Given the description of an element on the screen output the (x, y) to click on. 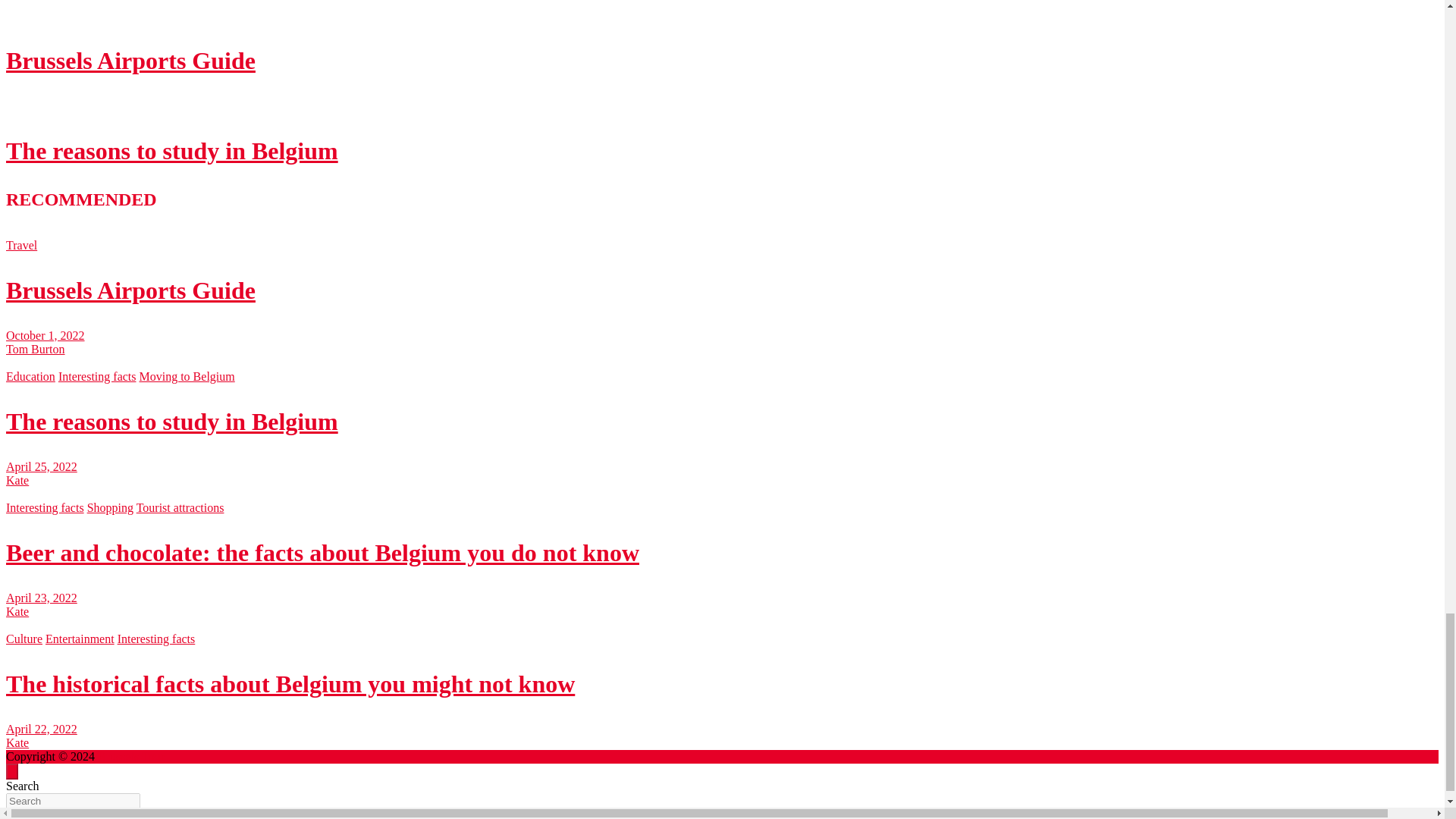
The reasons to study in Belgium (171, 150)
Brussels Airports Guide (130, 289)
Tom Burton (35, 349)
Brussels Airports Guide (44, 335)
The historical facts about Belgium you might not know (41, 728)
Brussels Airports Guide (130, 60)
Brussels Tour (130, 756)
Travel (21, 245)
October 1, 2022 (44, 335)
The reasons to study in Belgium (41, 466)
Education (30, 376)
Beer and chocolate: the facts about Belgium you do not know (41, 597)
